Given the description of an element on the screen output the (x, y) to click on. 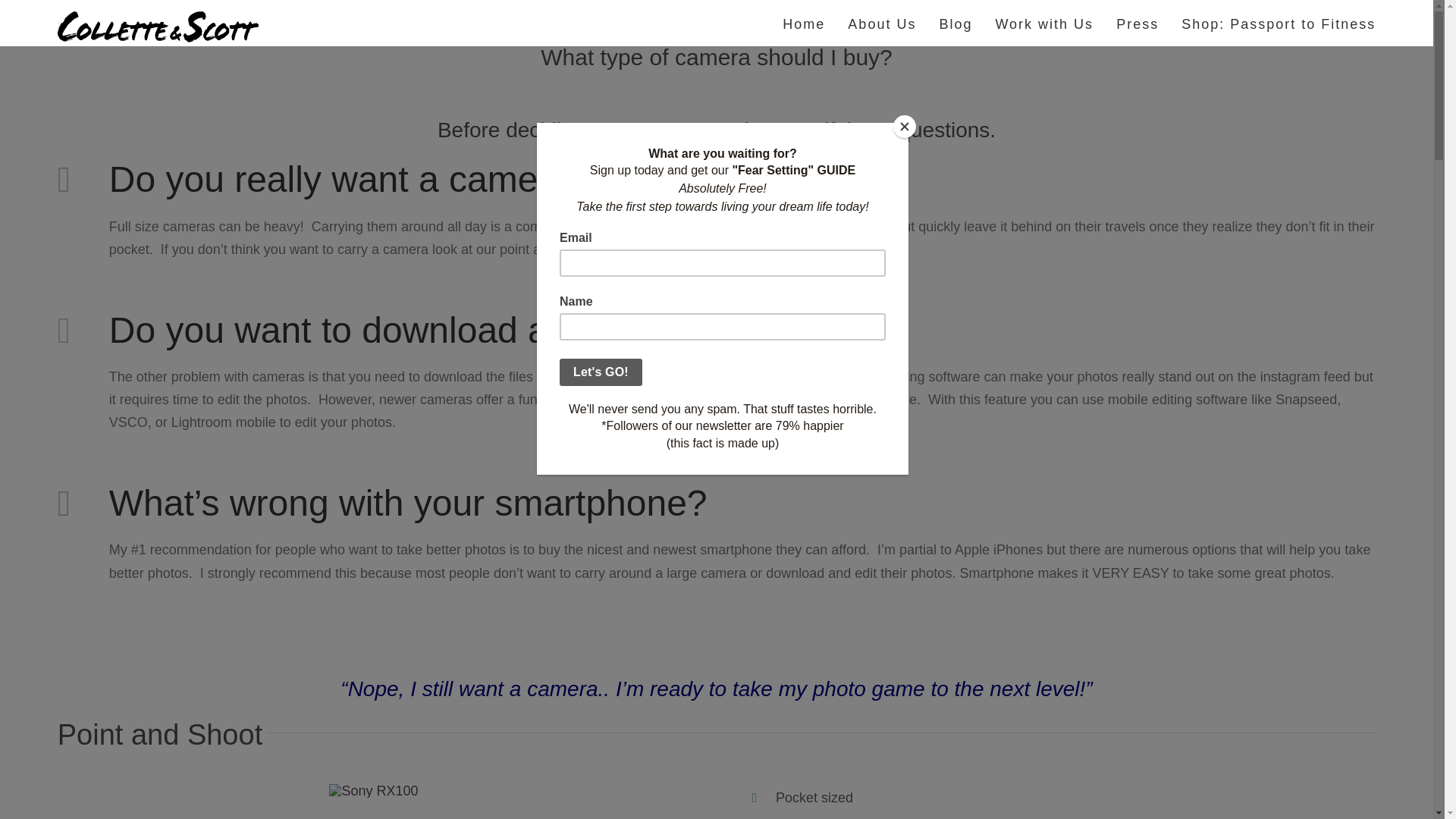
Shop: Passport to Fitness (1277, 22)
Work with Us (1043, 22)
Press (1137, 22)
Home (804, 22)
About Us (881, 22)
